Given the description of an element on the screen output the (x, y) to click on. 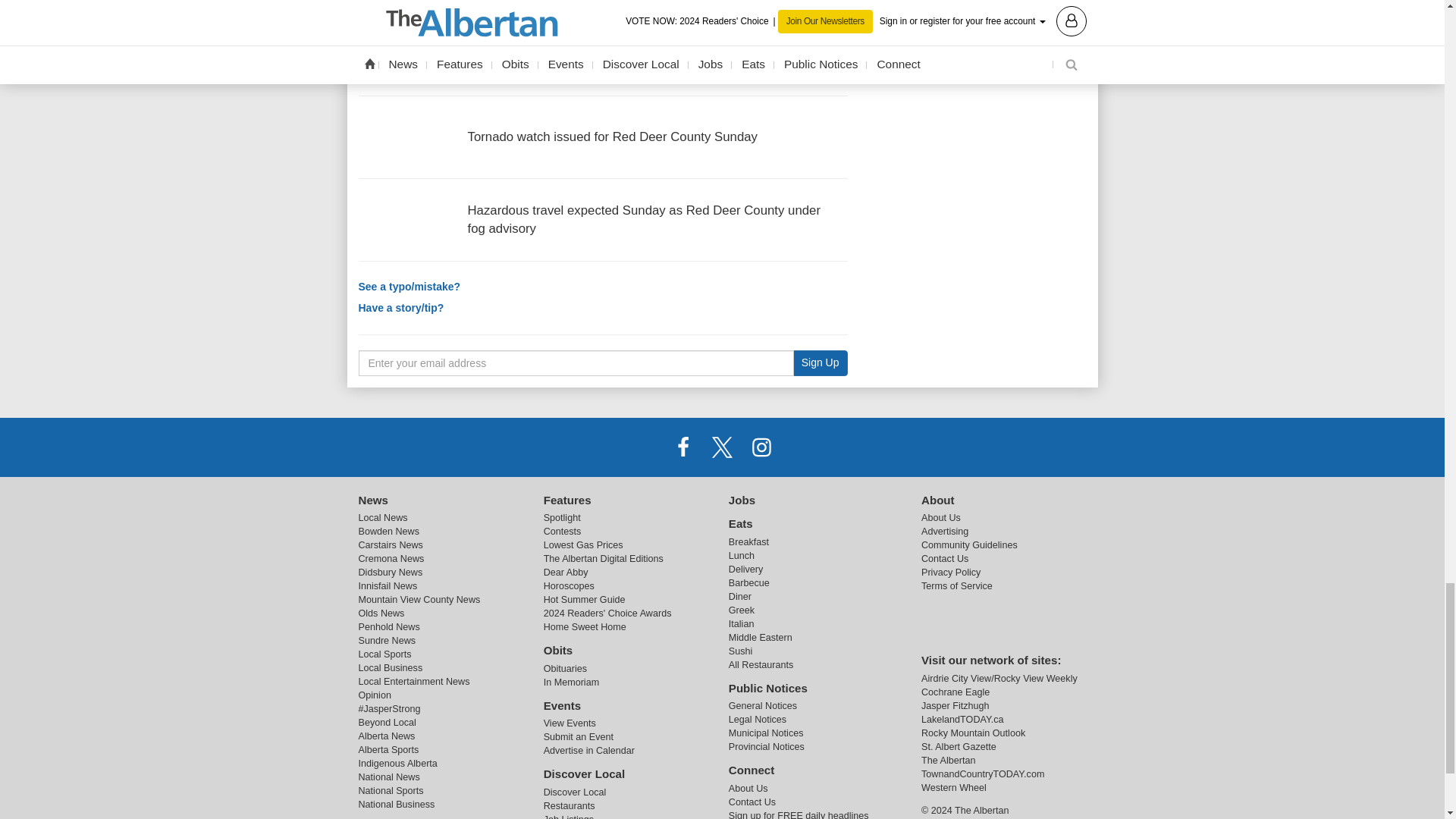
X (721, 446)
Facebook (683, 446)
Instagram (760, 446)
